Given the description of an element on the screen output the (x, y) to click on. 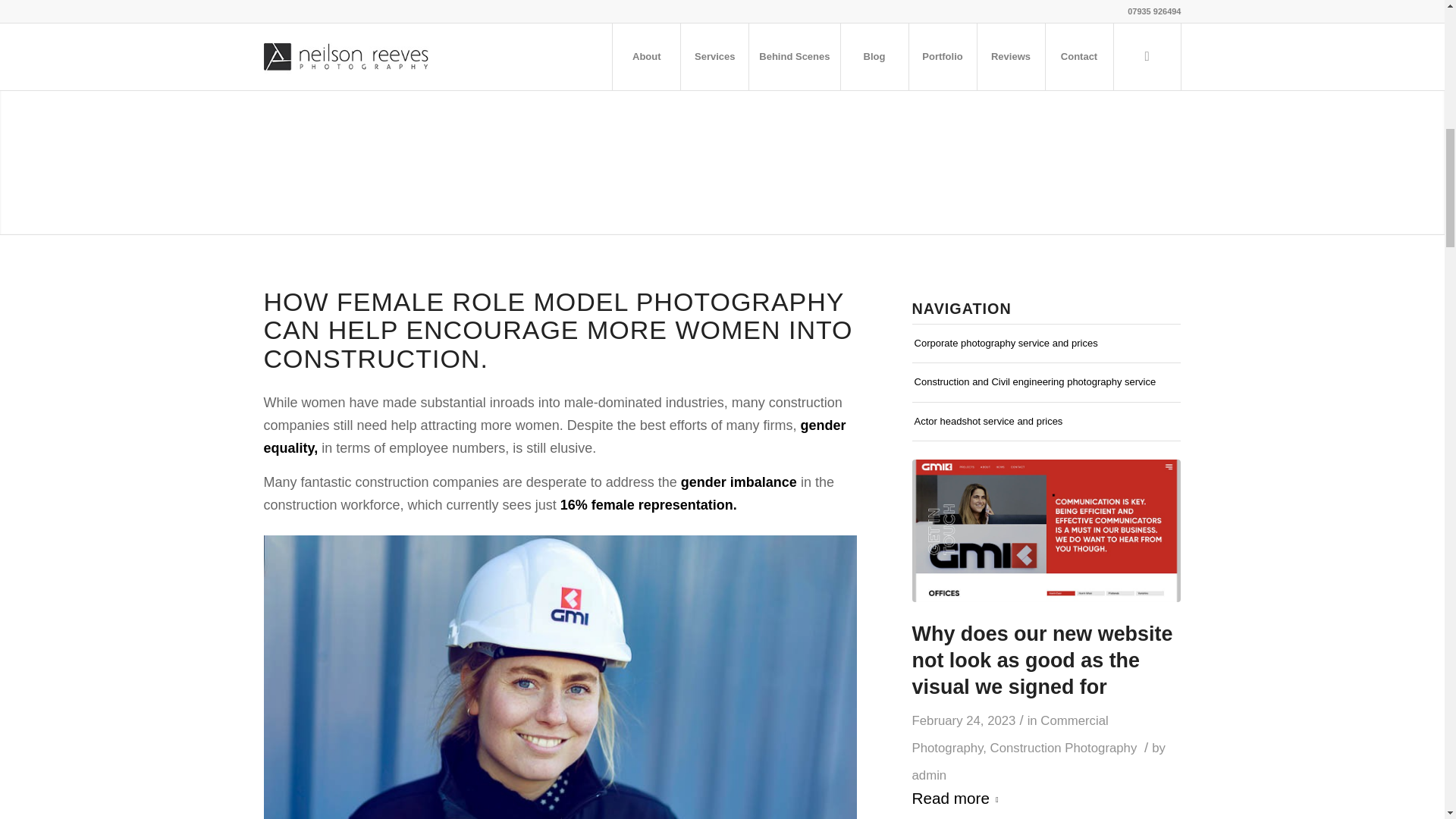
Construction Photography (1063, 748)
Construction and Civil engineering photography service (1046, 382)
Corporate photography service and prices (1046, 343)
Commercial Photography (1010, 734)
admin (929, 775)
Actor headshot service and prices (1046, 421)
Posts by admin (929, 775)
Read more (958, 798)
